Given the description of an element on the screen output the (x, y) to click on. 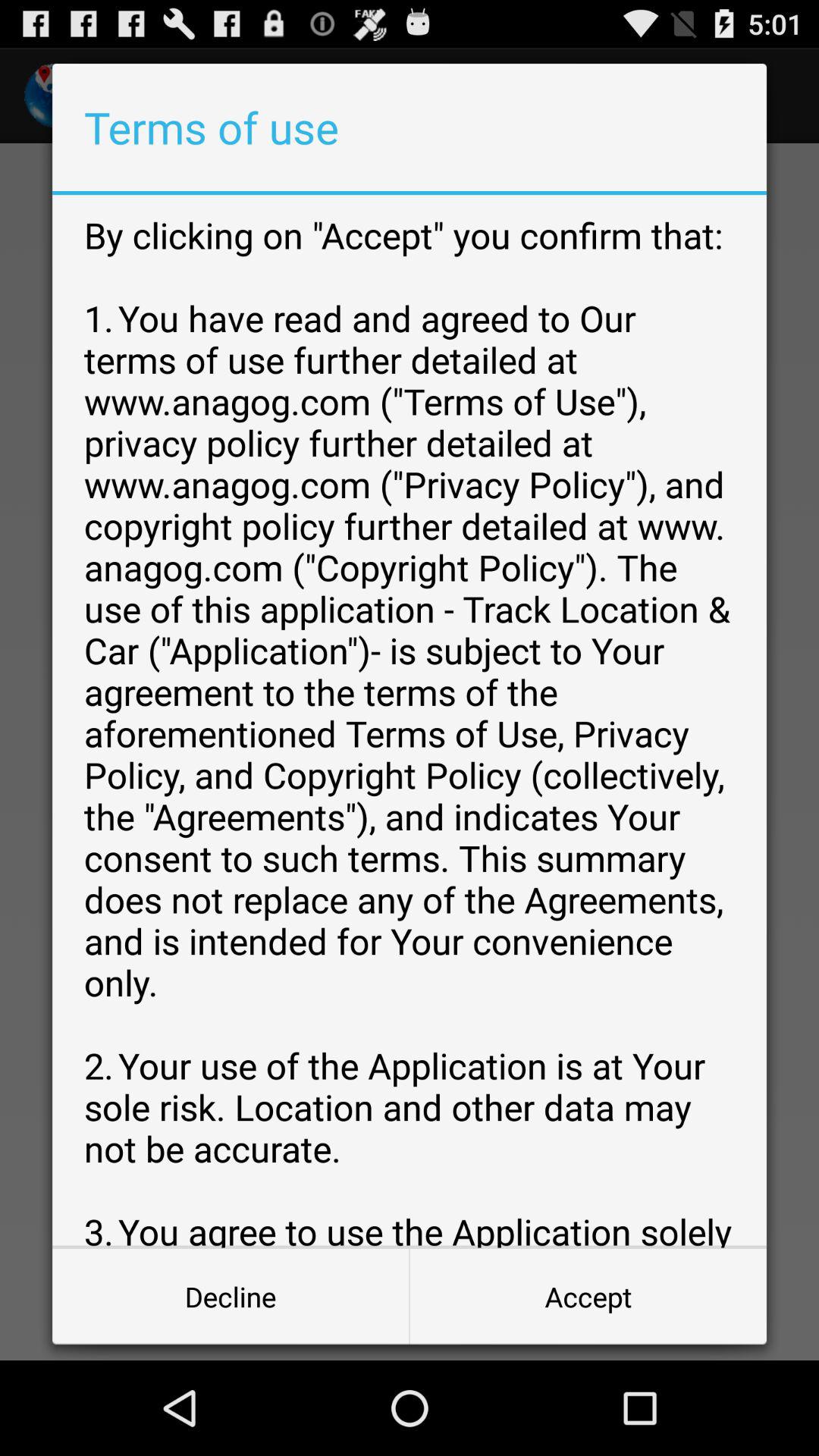
scroll to decline button (230, 1296)
